Given the description of an element on the screen output the (x, y) to click on. 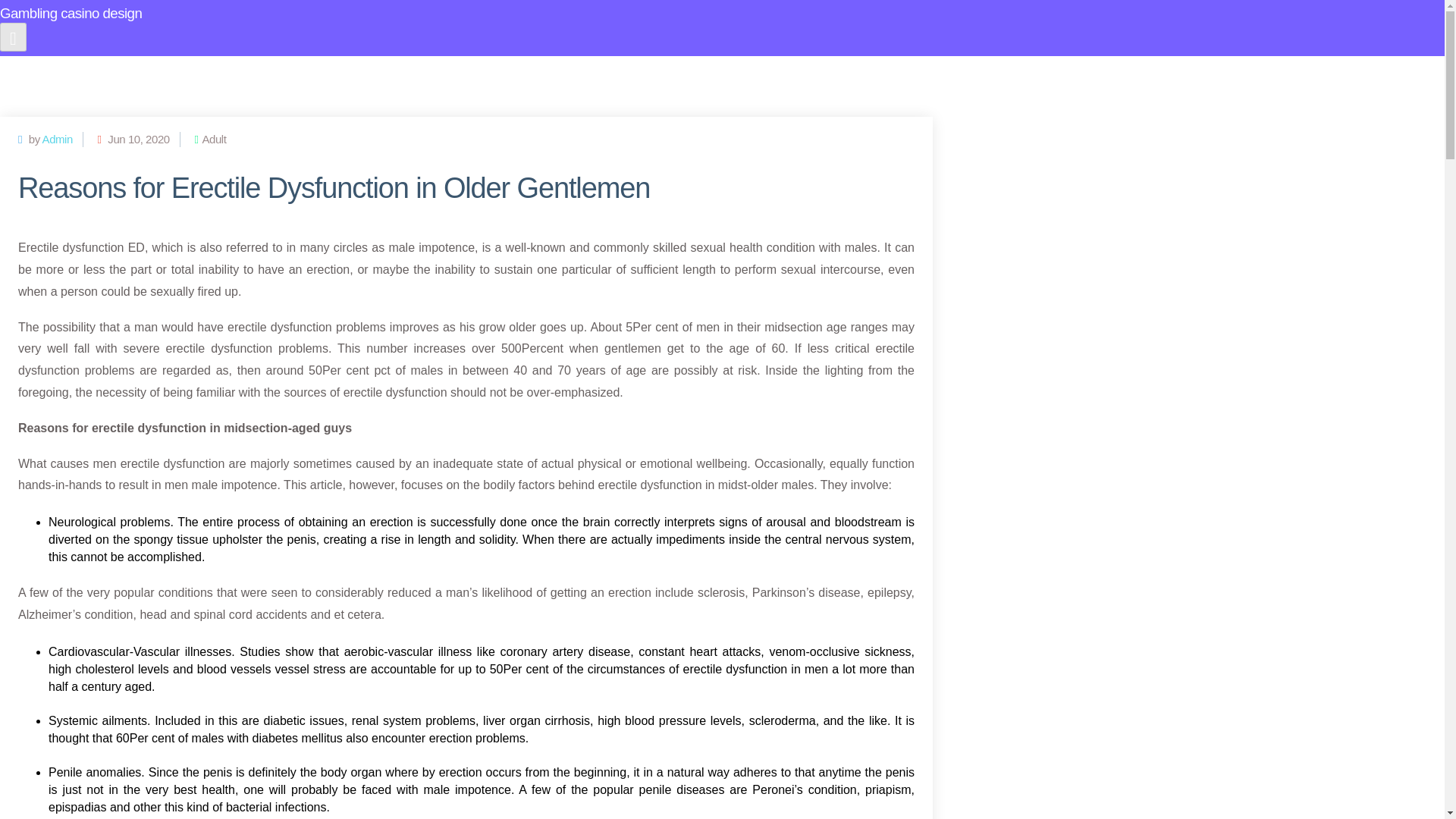
POKER (754, 76)
GAMBLING (830, 76)
Admin (57, 138)
BETTING (553, 76)
DATING (909, 76)
CASINO (626, 76)
Gambling casino design (466, 25)
